Given the description of an element on the screen output the (x, y) to click on. 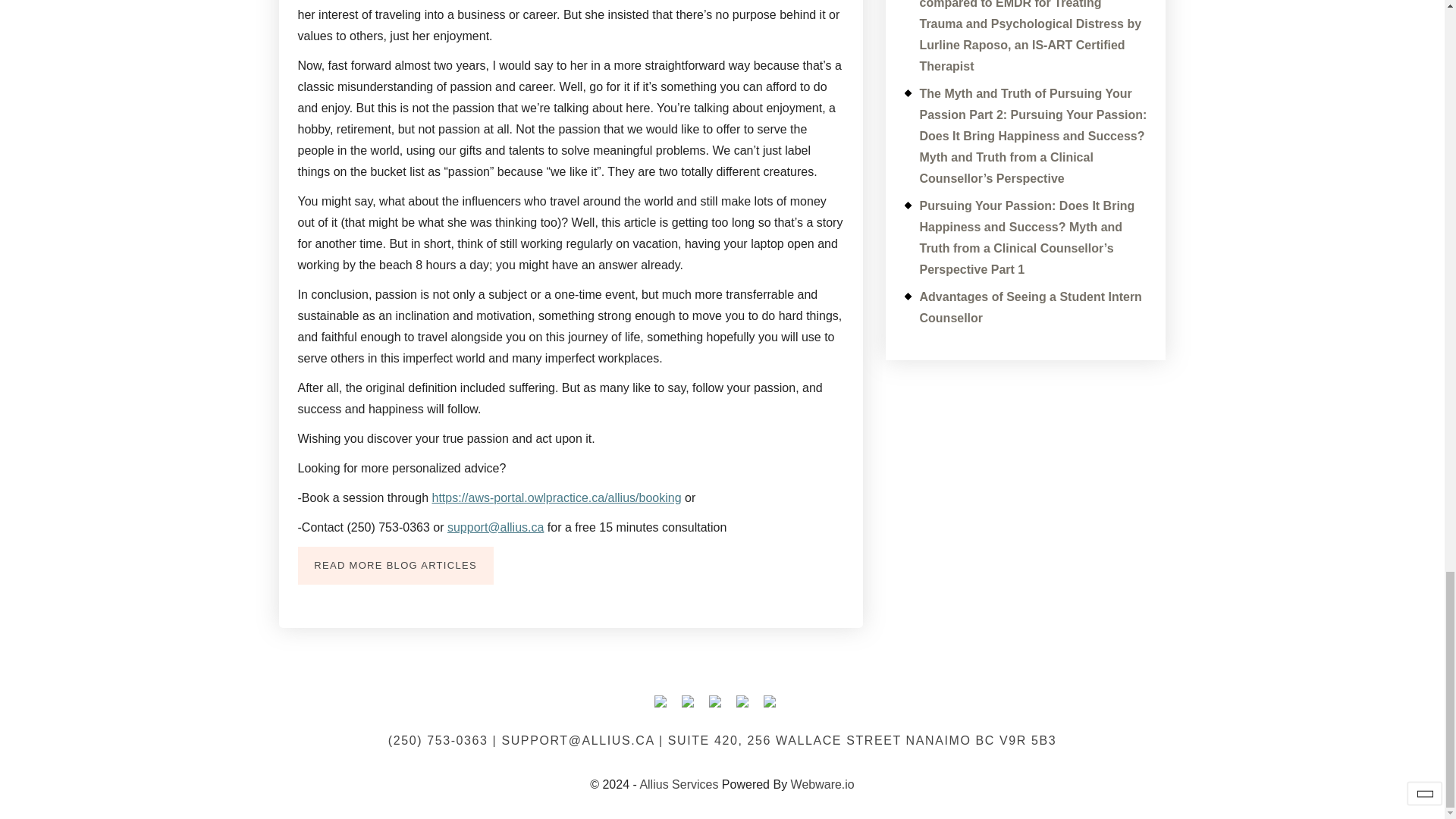
READ MORE BLOG ARTICLES (395, 565)
